Given the description of an element on the screen output the (x, y) to click on. 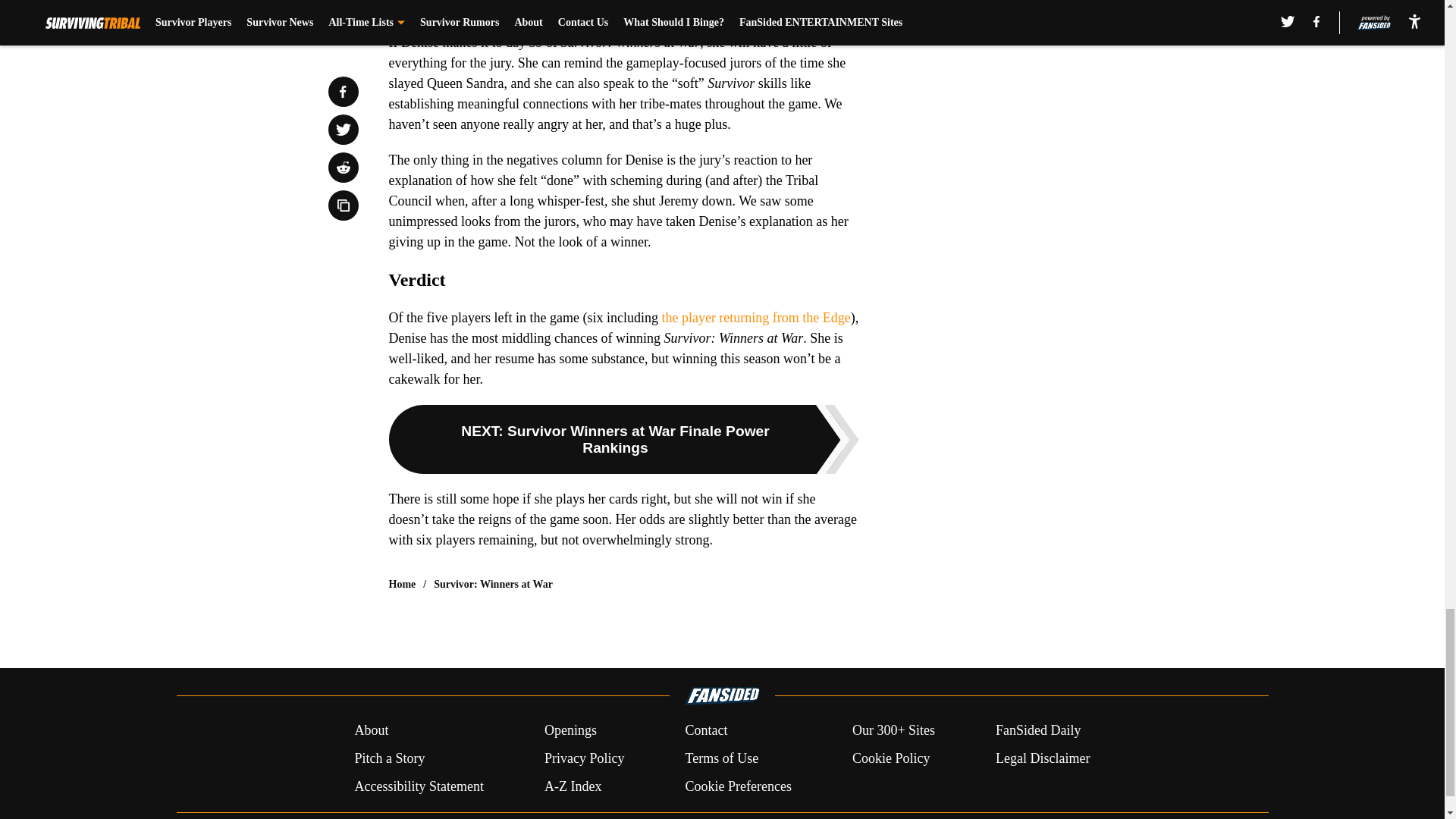
Terms of Use (721, 758)
Home (401, 584)
Privacy Policy (584, 758)
Cookie Policy (890, 758)
Openings (570, 730)
Contact (705, 730)
Pitch a Story (389, 758)
Survivor: Winners at War (493, 584)
the player returning from the Edge (755, 317)
About (370, 730)
